Given the description of an element on the screen output the (x, y) to click on. 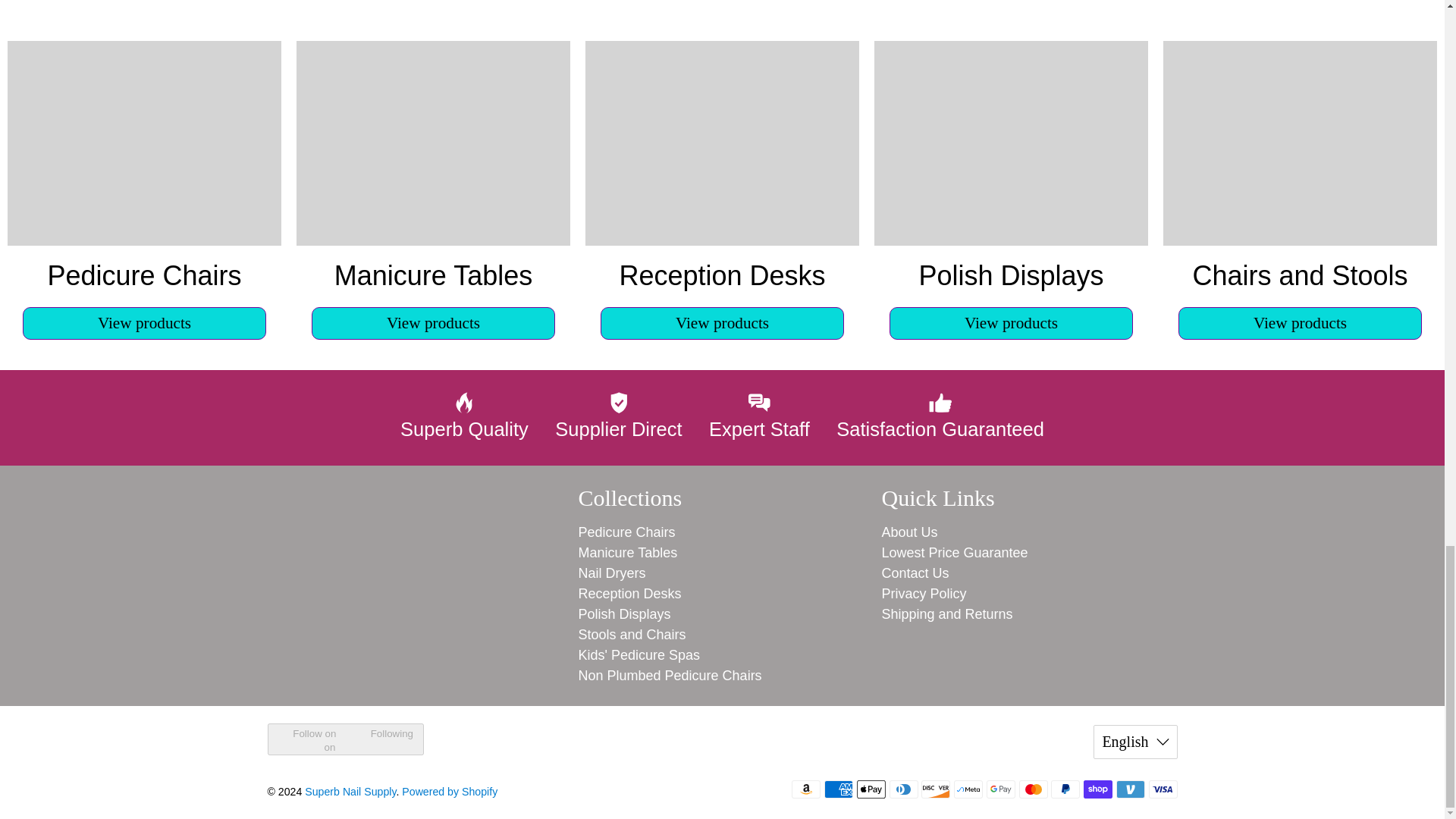
Discover (935, 789)
Shop Pay (1097, 789)
Superb Nail Supply (390, 570)
Venmo (1130, 789)
Apple Pay (871, 789)
Mastercard (1033, 789)
Diners Club (903, 789)
American Express (838, 789)
PayPal (1065, 789)
Amazon (806, 789)
